Given the description of an element on the screen output the (x, y) to click on. 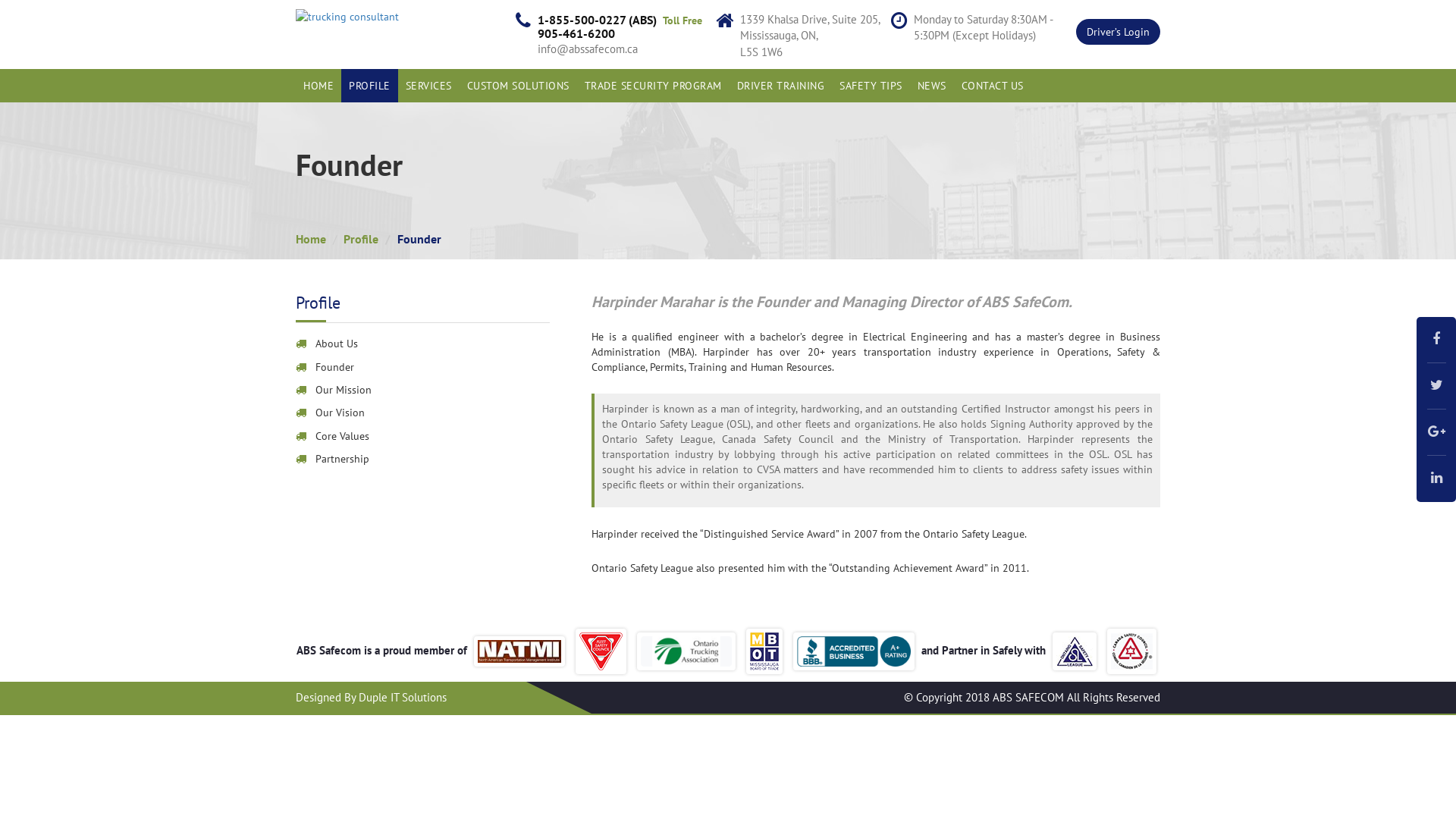
DRIVER TRAINING Element type: text (780, 85)
Profile Element type: text (317, 302)
CONTACT US Element type: text (992, 85)
Our Mission Element type: text (422, 389)
TRADE SECURITY PROGRAM Element type: text (652, 85)
About Us Element type: text (422, 343)
PROFILE Element type: text (369, 85)
Core Values Element type: text (422, 436)
Partnership Element type: text (422, 458)
Founder Element type: text (422, 367)
Profile Element type: text (360, 238)
Home Element type: text (310, 238)
Our Vision Element type: text (422, 412)
SERVICES Element type: text (427, 85)
NEWS Element type: text (931, 85)
CUSTOM SOLUTIONS Element type: text (518, 85)
SAFETY TIPS Element type: text (870, 85)
HOME Element type: text (318, 85)
